Given the description of an element on the screen output the (x, y) to click on. 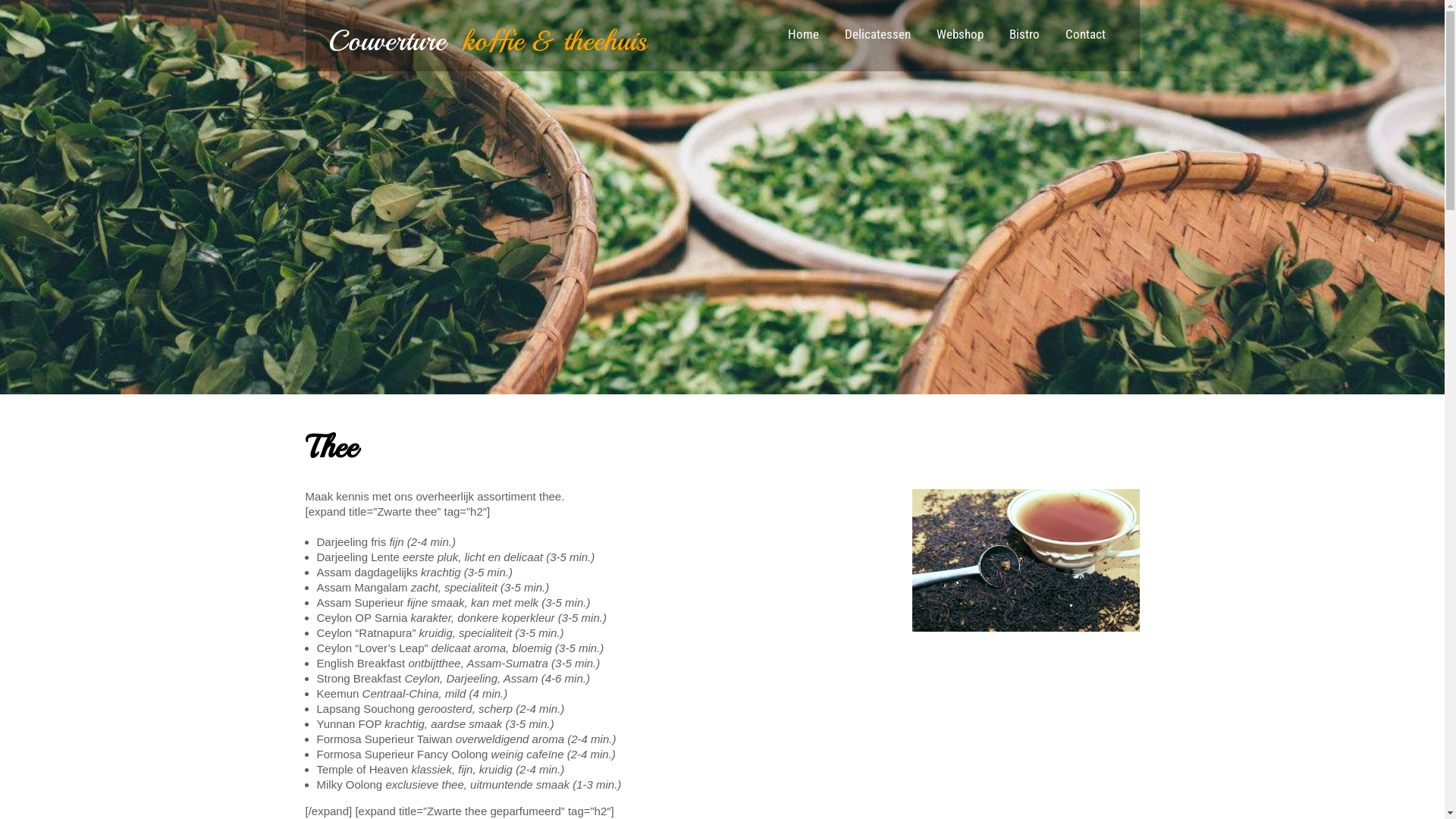
Contact Element type: text (1085, 35)
Webshop Element type: text (959, 35)
Home Element type: text (803, 35)
Bistro Element type: text (1024, 35)
Delicatessen Element type: text (876, 35)
